Given the description of an element on the screen output the (x, y) to click on. 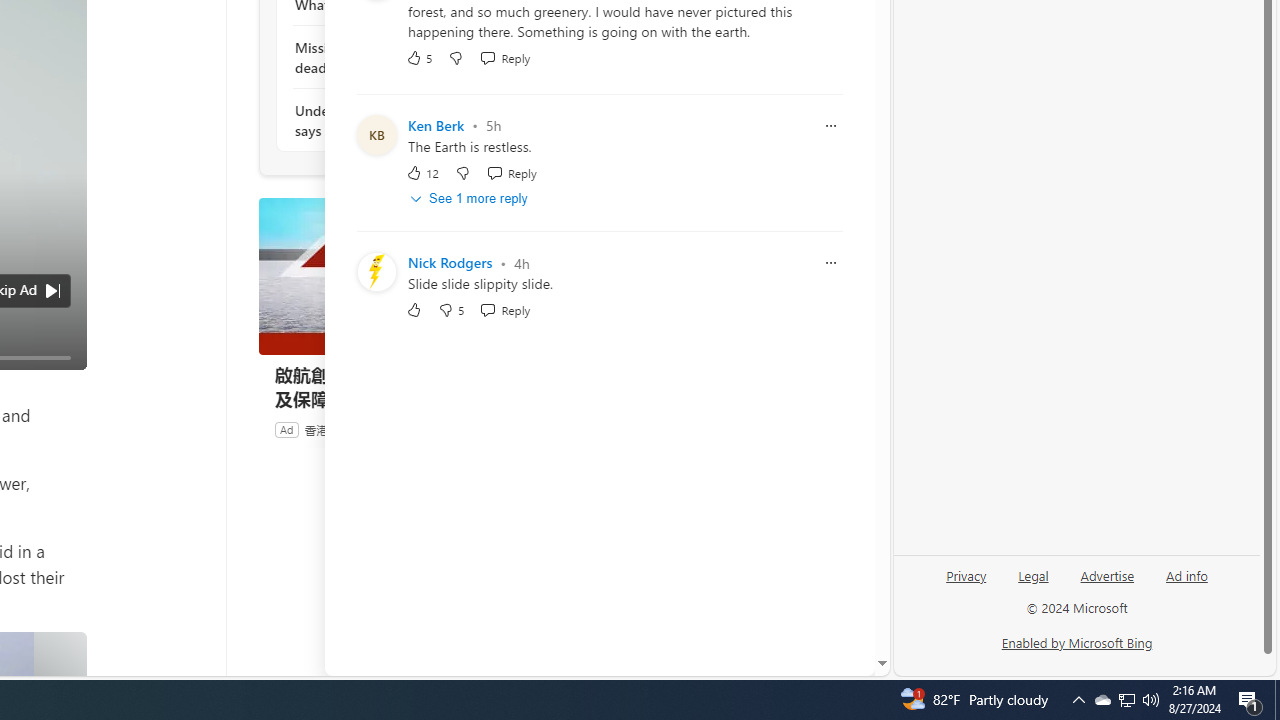
Like (414, 310)
5 Like (419, 56)
Ken Berk (436, 125)
Report comment (831, 263)
12 Like (422, 172)
Unmute (55, 347)
Nick Rodgers (450, 263)
